Given the description of an element on the screen output the (x, y) to click on. 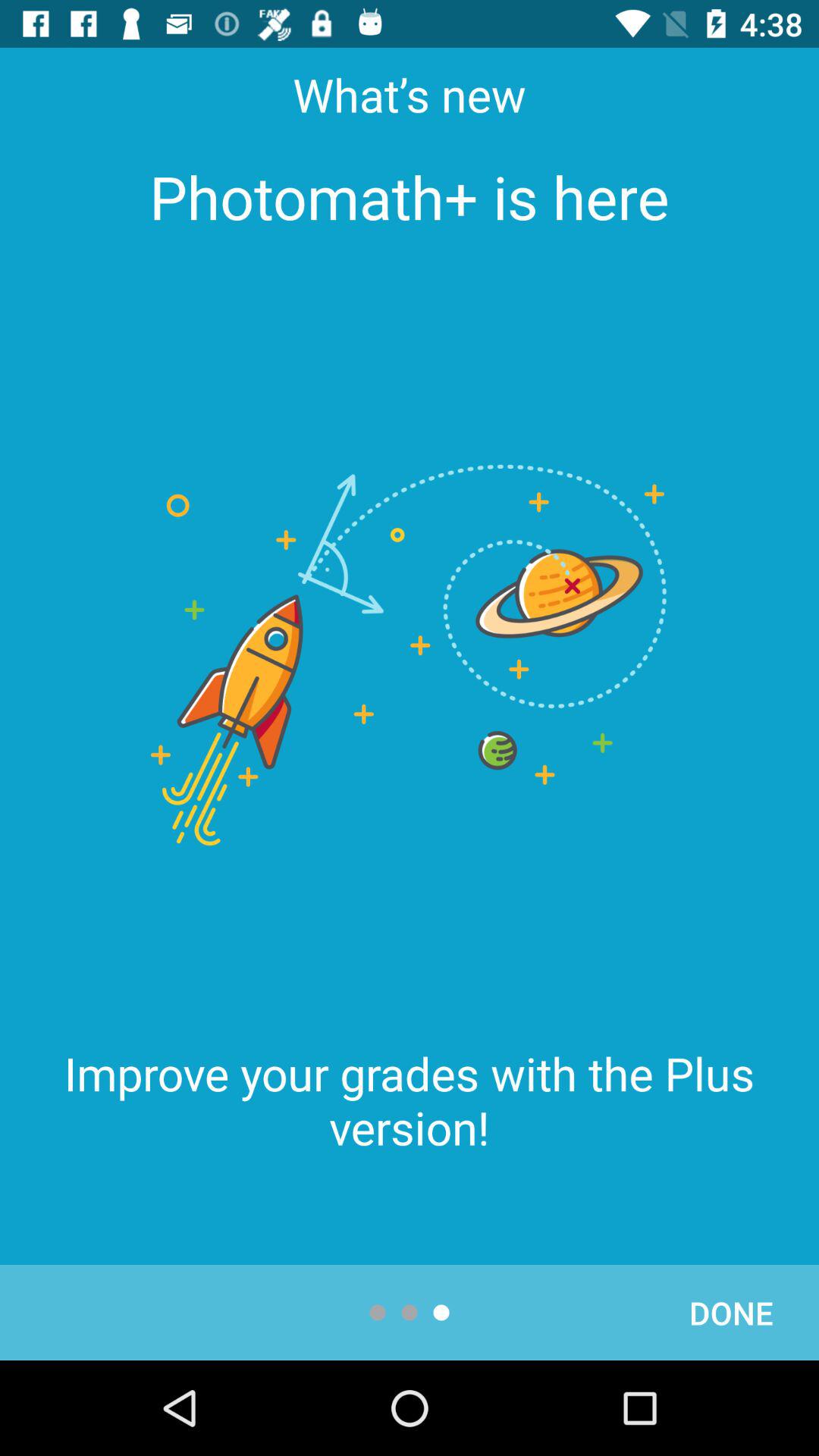
turn off the done (731, 1312)
